Given the description of an element on the screen output the (x, y) to click on. 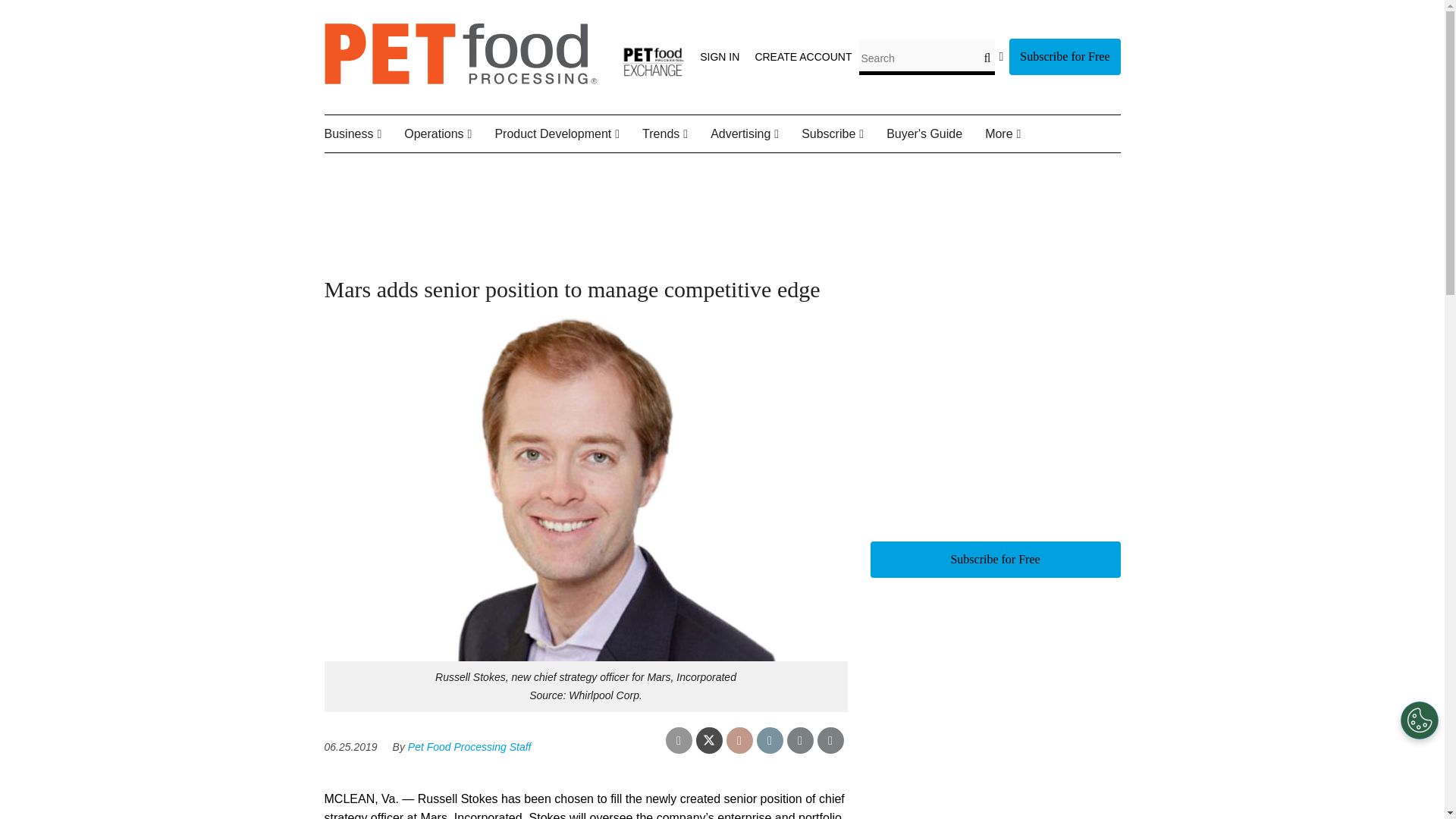
Cookies Settings (1419, 720)
Petfood Processing (460, 80)
